Given the description of an element on the screen output the (x, y) to click on. 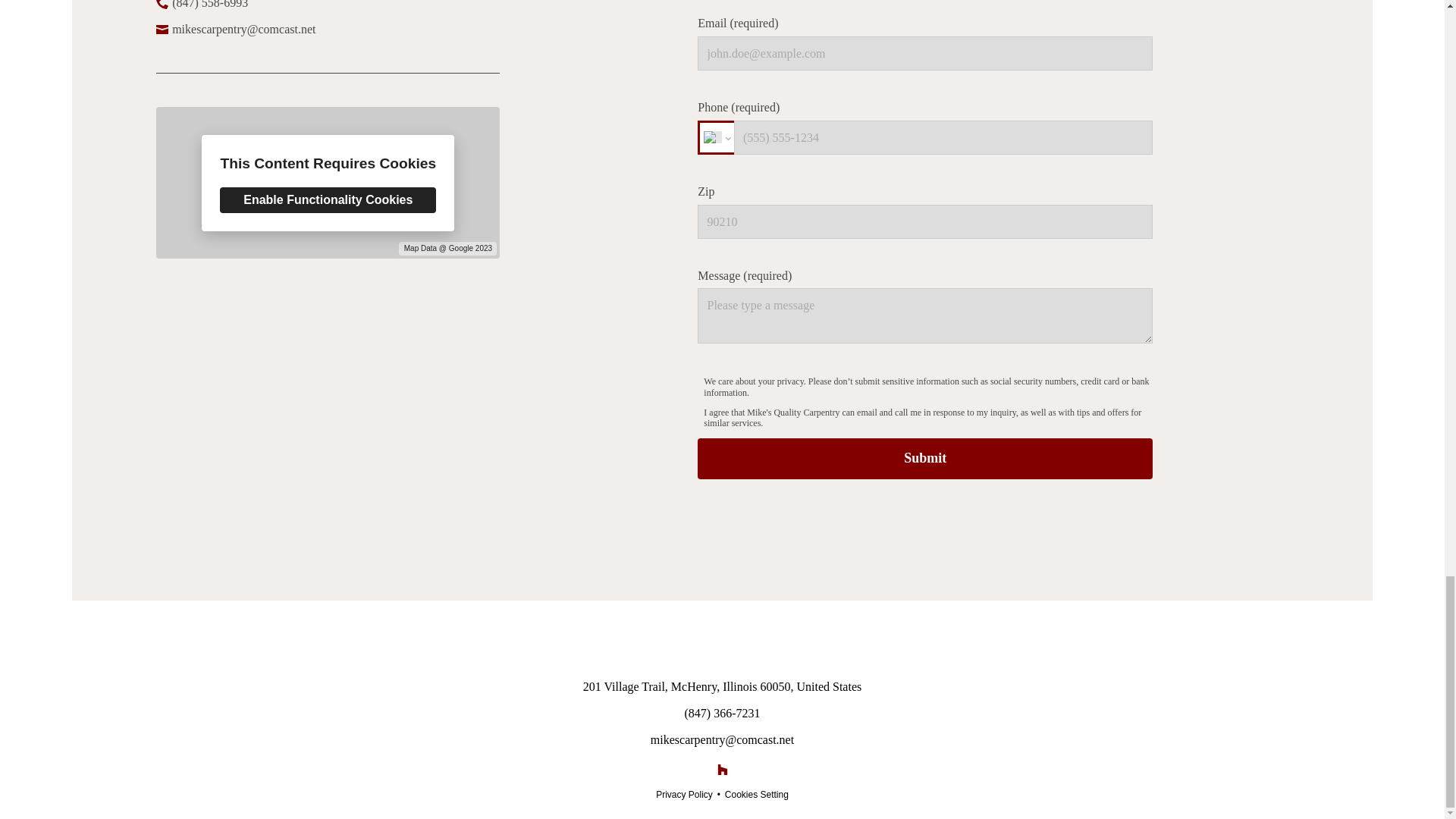
Cookies Setting (757, 794)
201 Village Trail, McHenry, Illinois 60050, United States (722, 686)
Privacy Policy (684, 794)
Submit (925, 458)
Enable Functionality Cookies (327, 199)
